Given the description of an element on the screen output the (x, y) to click on. 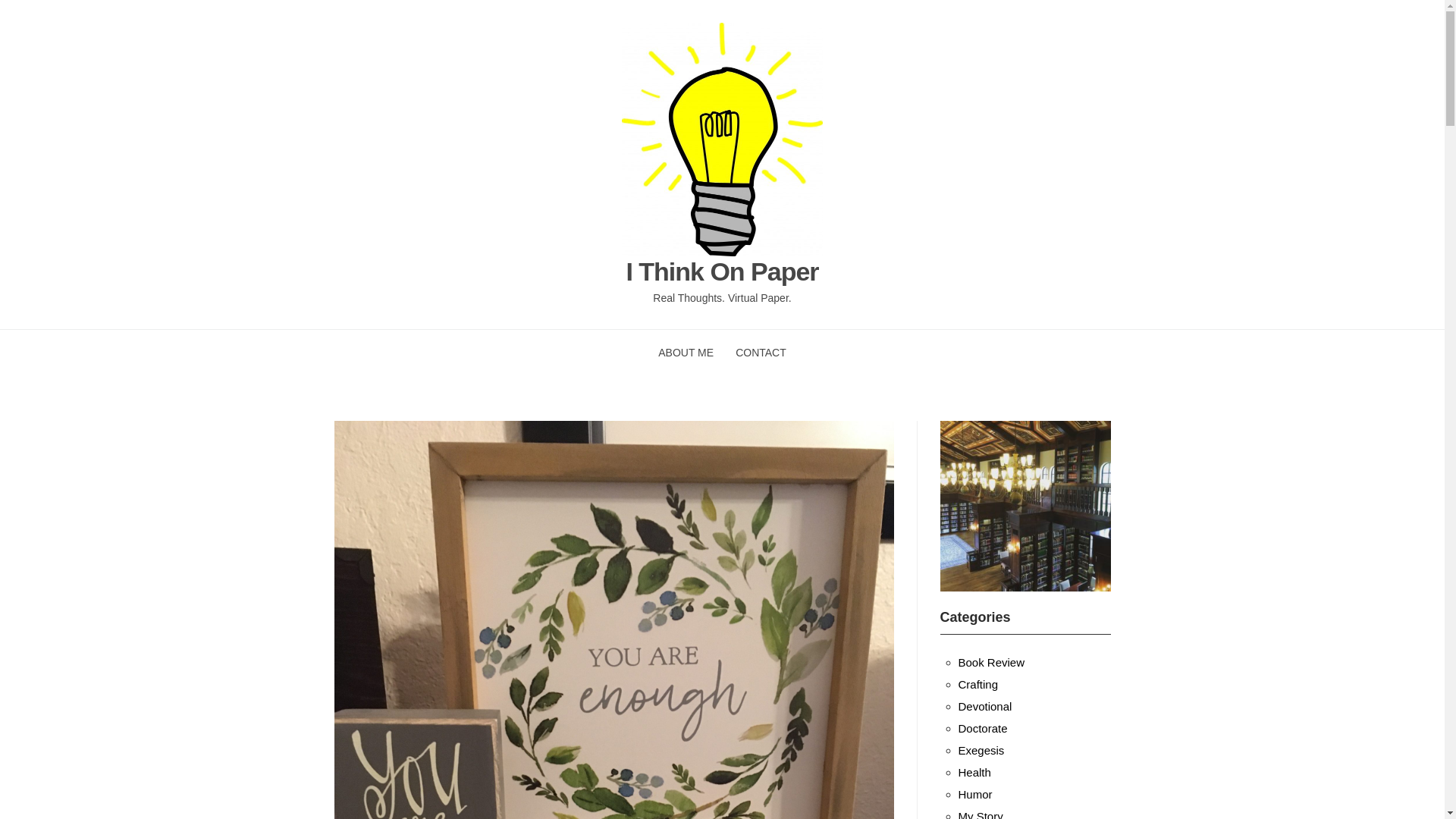
Crafting (978, 684)
Humor (975, 793)
ABOUT ME (685, 352)
Doctorate (982, 727)
Devotional (984, 706)
Book Review (991, 662)
I Think On Paper (722, 271)
Health (974, 771)
Exegesis (981, 749)
My Story (980, 814)
CONTACT (760, 352)
